Given the description of an element on the screen output the (x, y) to click on. 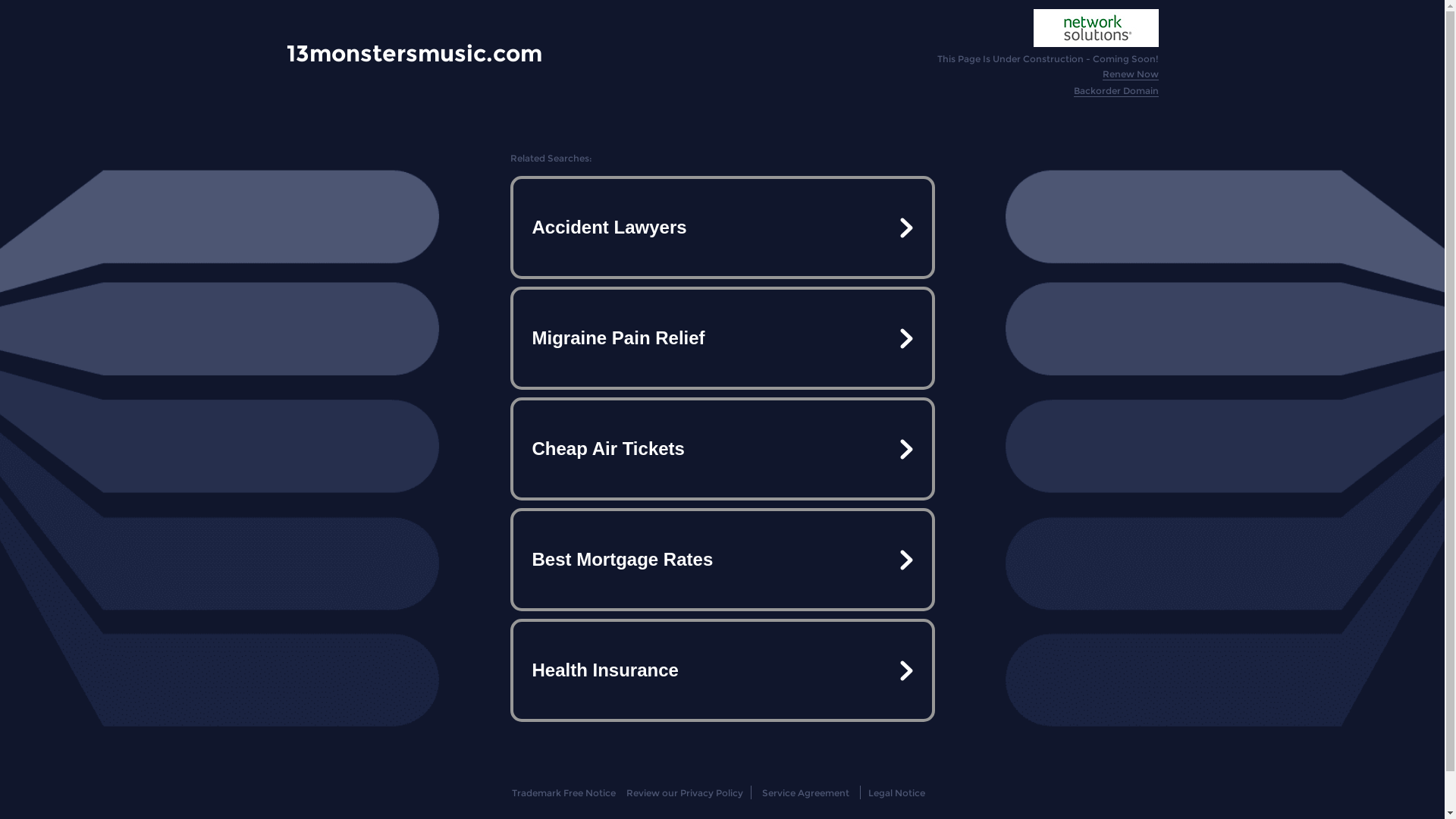
Health Insurance Element type: text (721, 669)
Service Agreement Element type: text (805, 792)
Renew Now Element type: text (1130, 74)
Migraine Pain Relief Element type: text (721, 337)
Trademark Free Notice Element type: text (563, 792)
Best Mortgage Rates Element type: text (721, 559)
Legal Notice Element type: text (896, 792)
Accident Lawyers Element type: text (721, 227)
Backorder Domain Element type: text (1115, 90)
Cheap Air Tickets Element type: text (721, 448)
13monstersmusic.com Element type: text (414, 53)
Review our Privacy Policy Element type: text (684, 792)
